Given the description of an element on the screen output the (x, y) to click on. 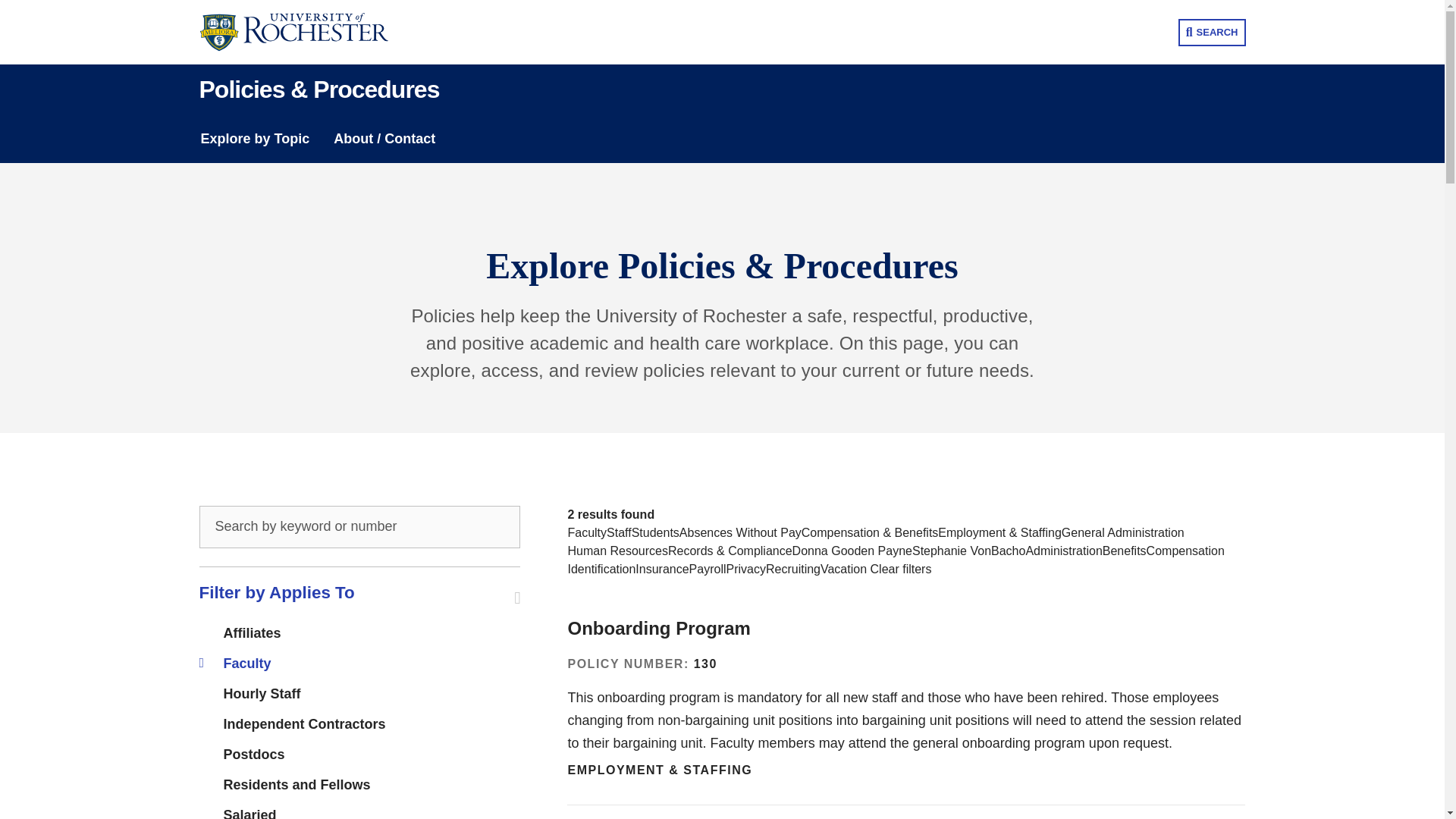
Filter policies by Hourly Staff (261, 694)
Explore by Topic (254, 138)
Filter policies by Faculty (246, 664)
Faculty (246, 664)
Postdocs (253, 755)
Salaried (248, 809)
Independent Contractors (303, 725)
Hourly Staff (261, 694)
Residents and Fellows (296, 785)
University of Rochester Homepage (304, 32)
